Given the description of an element on the screen output the (x, y) to click on. 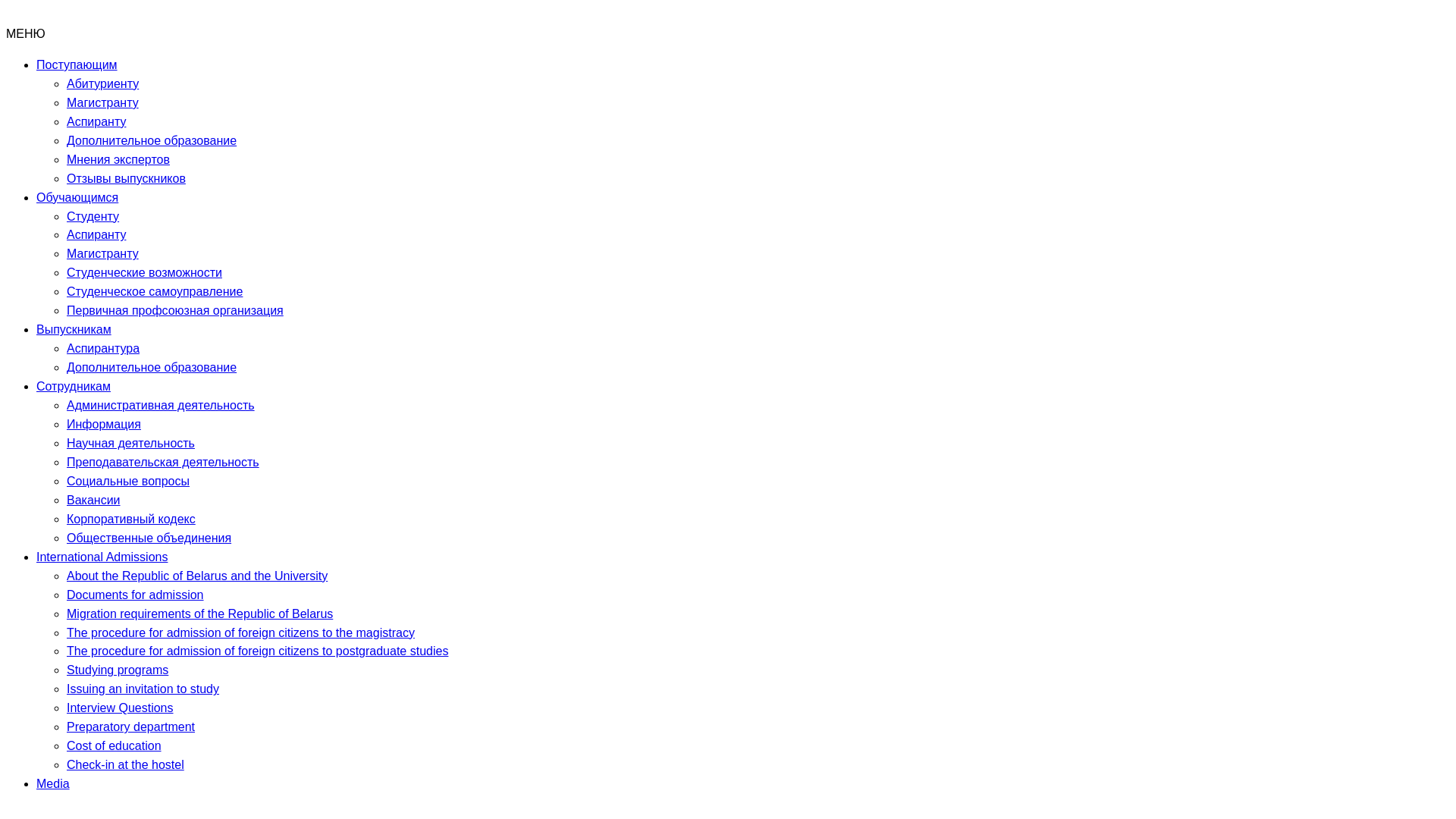
Check-in at the hostel Element type: text (125, 764)
Interview Questions Element type: text (119, 707)
Issuing an invitation to study Element type: text (142, 688)
Migration requirements of the Republic of Belarus Element type: text (199, 613)
About the Republic of Belarus and the University Element type: text (196, 575)
Documents for admission Element type: text (134, 594)
Studying programs Element type: text (117, 669)
International Admissions Element type: text (101, 556)
Preparatory department Element type: text (130, 726)
Media Element type: text (52, 783)
Cost of education Element type: text (113, 745)
